Given the description of an element on the screen output the (x, y) to click on. 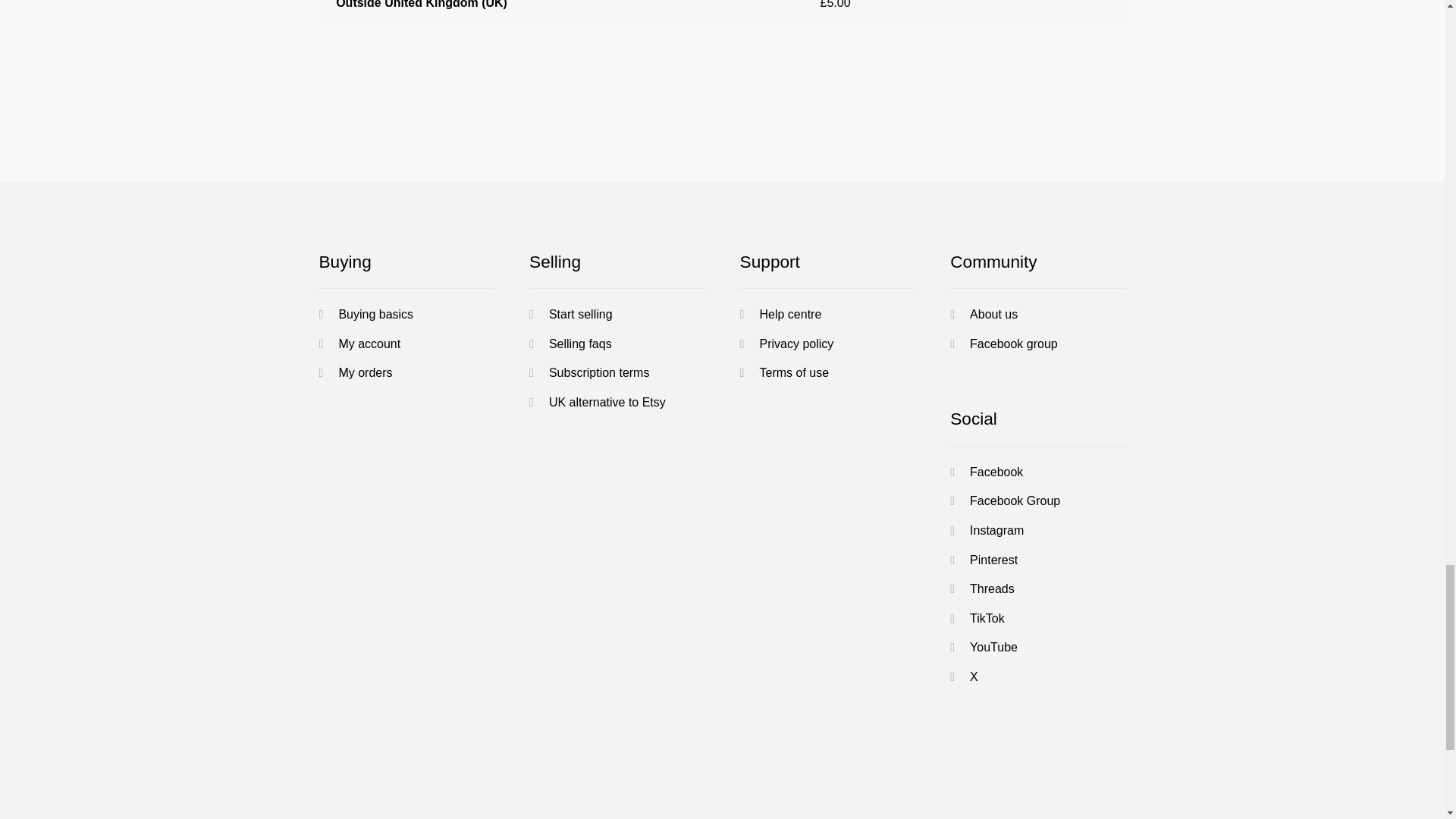
View our Ecologi profile (1026, 780)
